Given the description of an element on the screen output the (x, y) to click on. 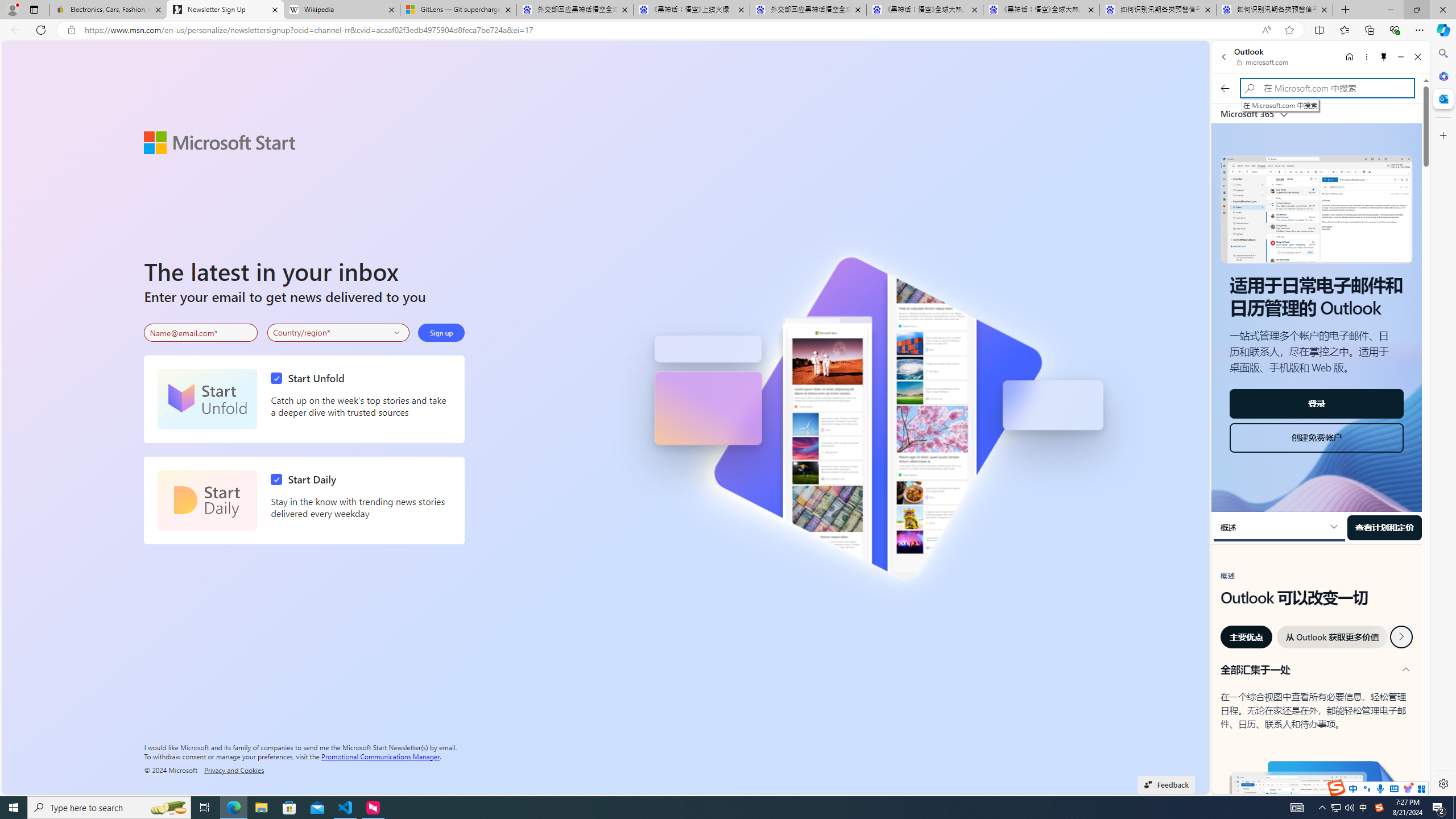
Settings and more (Alt+F) (1419, 29)
Copilot (Ctrl+Shift+.) (1442, 29)
Select your country (338, 332)
